Given the description of an element on the screen output the (x, y) to click on. 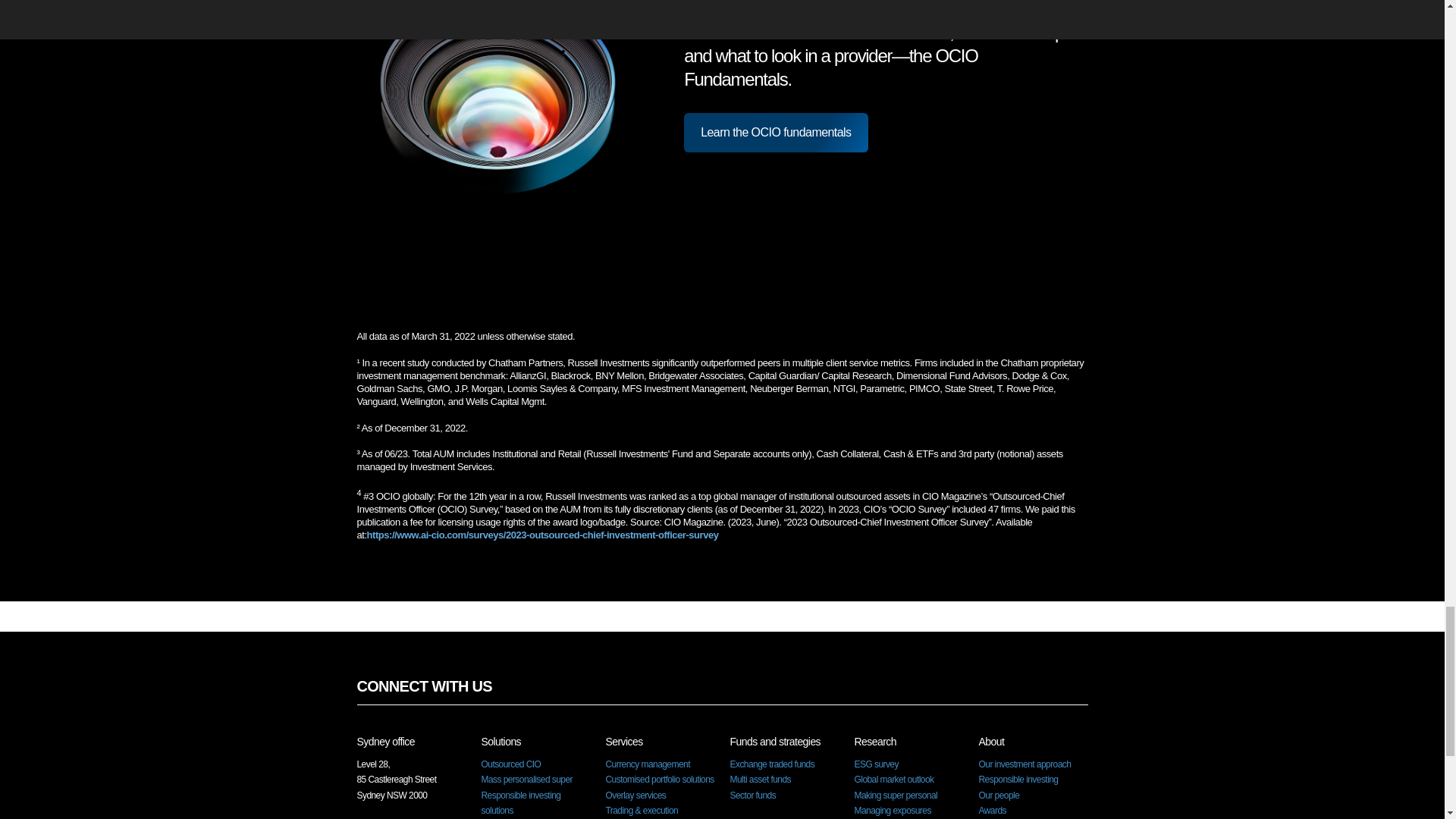
Our people (998, 795)
ESG survey (875, 764)
Overlay services (635, 795)
Mass personalised super (526, 778)
Responsible investing (1018, 778)
Multi asset funds (759, 778)
Managing exposures (891, 810)
Responsible investing solutions (520, 802)
Currency management (646, 764)
Sector funds (752, 795)
